Given the description of an element on the screen output the (x, y) to click on. 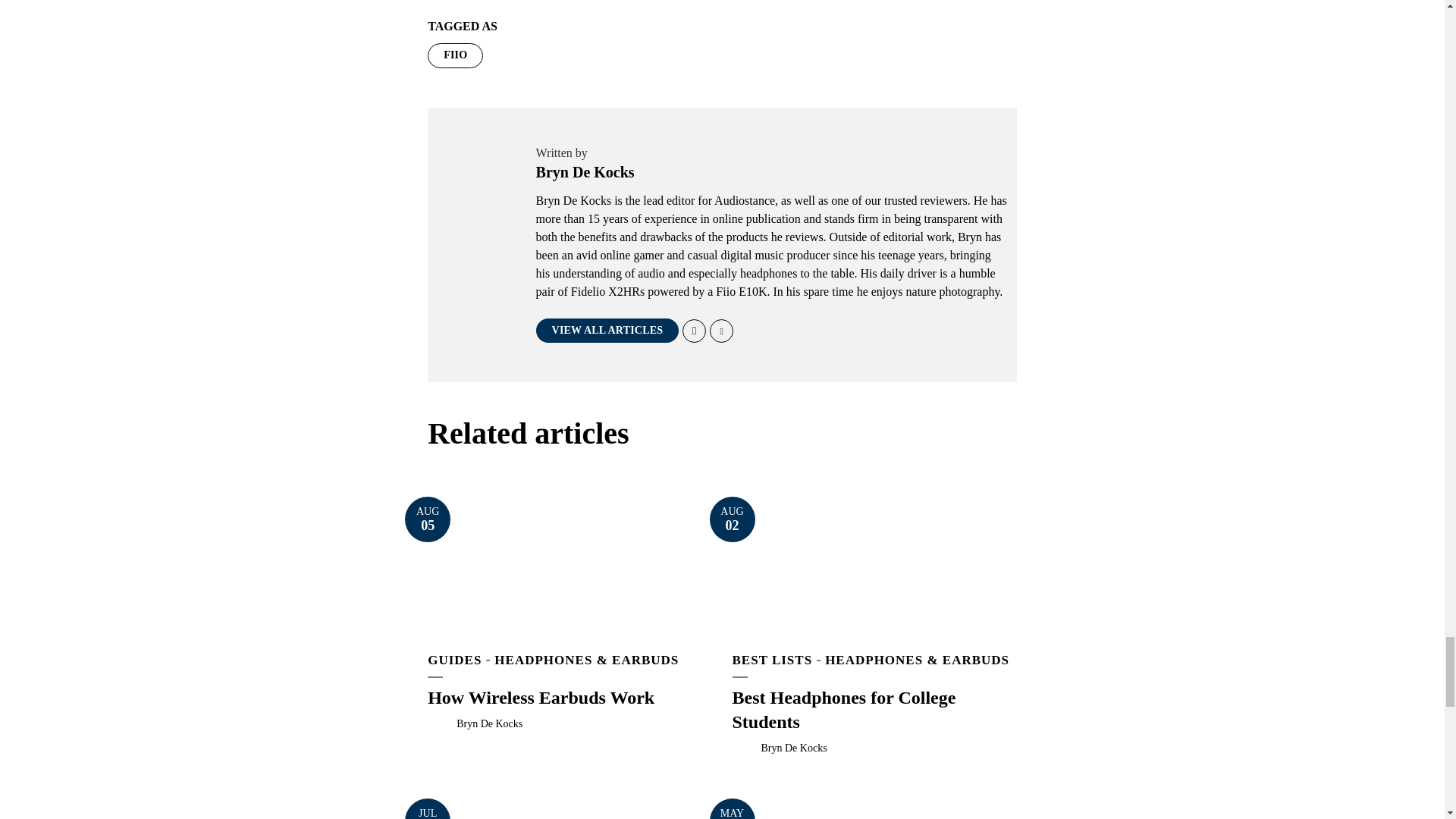
VIEW ALL ARTICLES (607, 330)
FIIO (455, 55)
Bryn De Kocks (489, 723)
GUIDES (454, 659)
How Wireless Earbuds Work (426, 519)
